Given the description of an element on the screen output the (x, y) to click on. 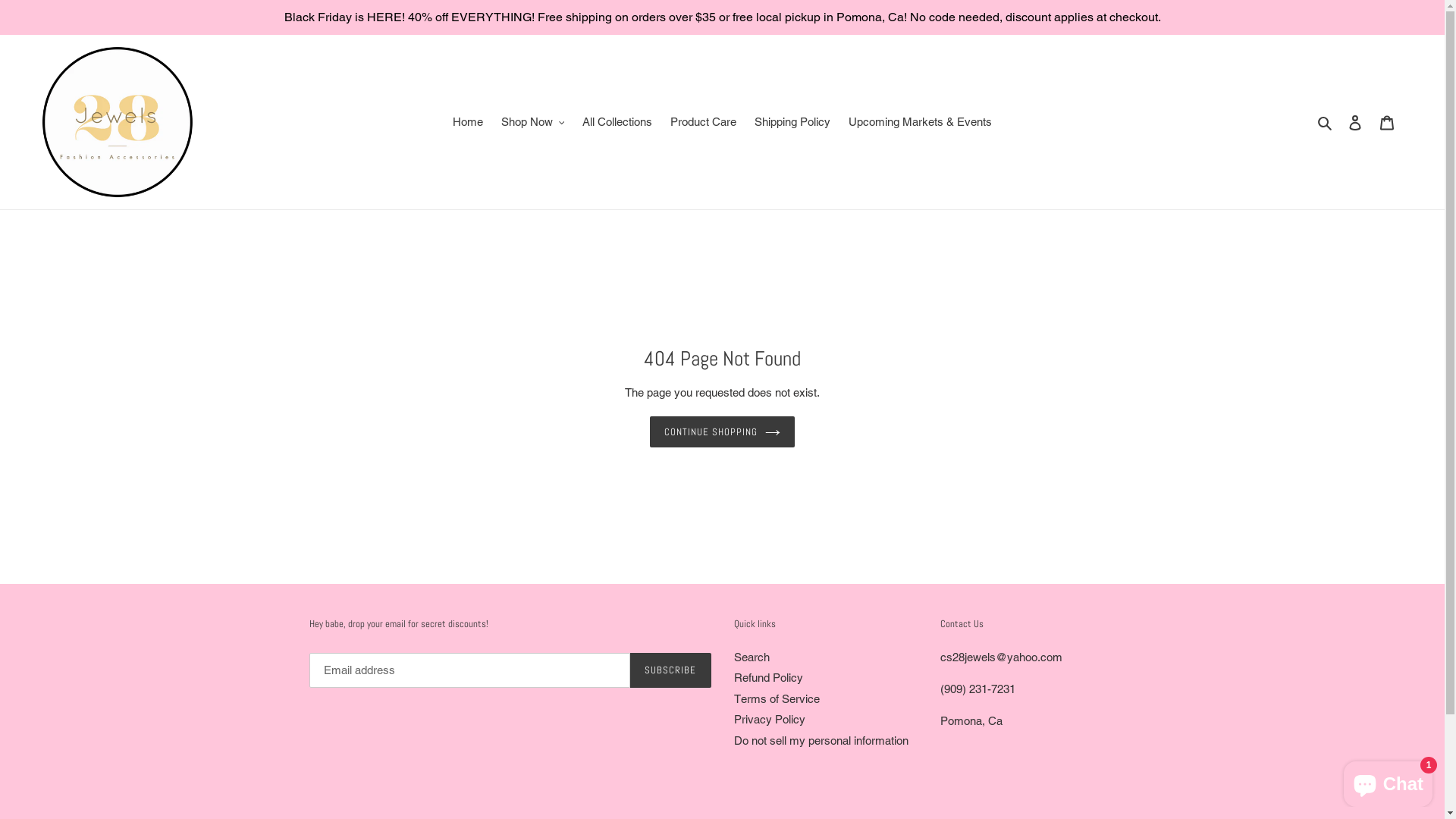
Do not sell my personal information Element type: text (821, 740)
Search Element type: text (1325, 121)
Log in Element type: text (1355, 122)
Privacy Policy Element type: text (769, 718)
Refund Policy Element type: text (768, 677)
SUBSCRIBE Element type: text (670, 669)
Shipping Policy Element type: text (791, 122)
Product Care Element type: text (702, 122)
Search Element type: text (751, 656)
Upcoming Markets & Events Element type: text (919, 122)
All Collections Element type: text (616, 122)
Shopify online store chat Element type: hover (1388, 780)
Home Element type: text (467, 122)
Shop Now Element type: text (532, 122)
Terms of Service Element type: text (776, 698)
Cart Element type: text (1386, 122)
CONTINUE SHOPPING Element type: text (722, 432)
